Given the description of an element on the screen output the (x, y) to click on. 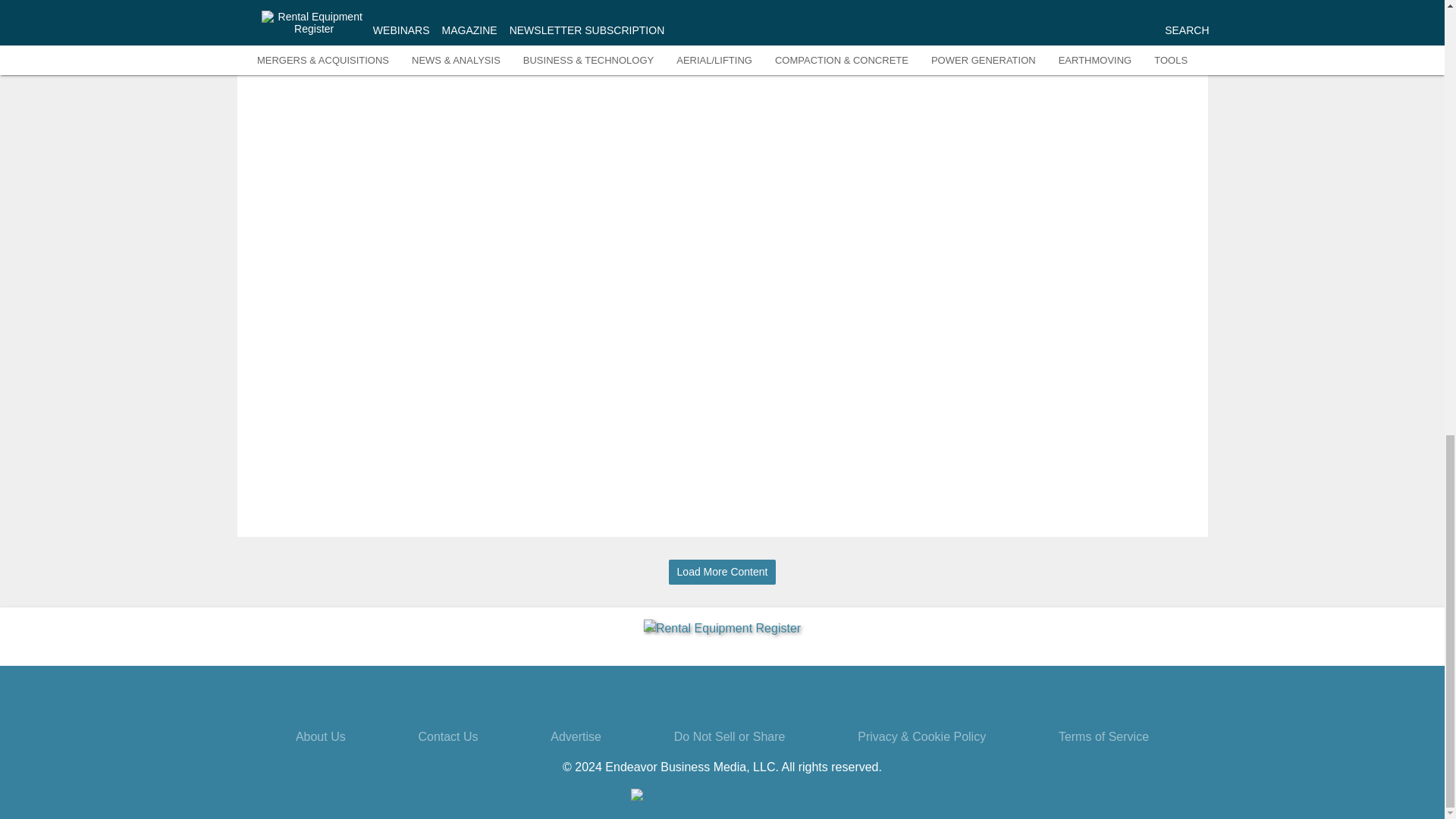
Load More Content (722, 571)
Forklifts (1129, 45)
